Given the description of an element on the screen output the (x, y) to click on. 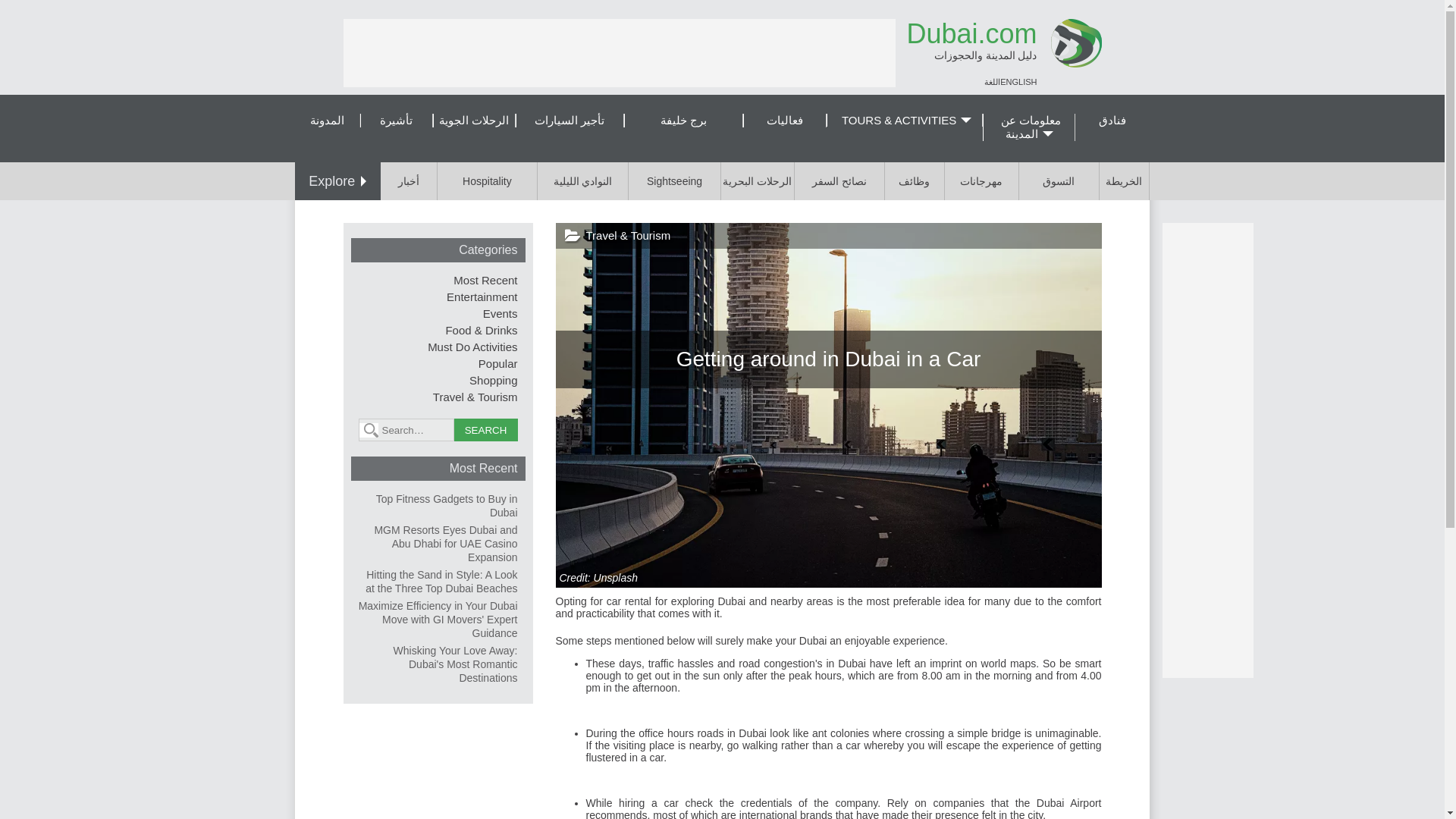
Sightseeing (674, 180)
ENGLISH (1018, 81)
search (484, 429)
Hospitality (487, 180)
Most Recent (484, 279)
